Given the description of an element on the screen output the (x, y) to click on. 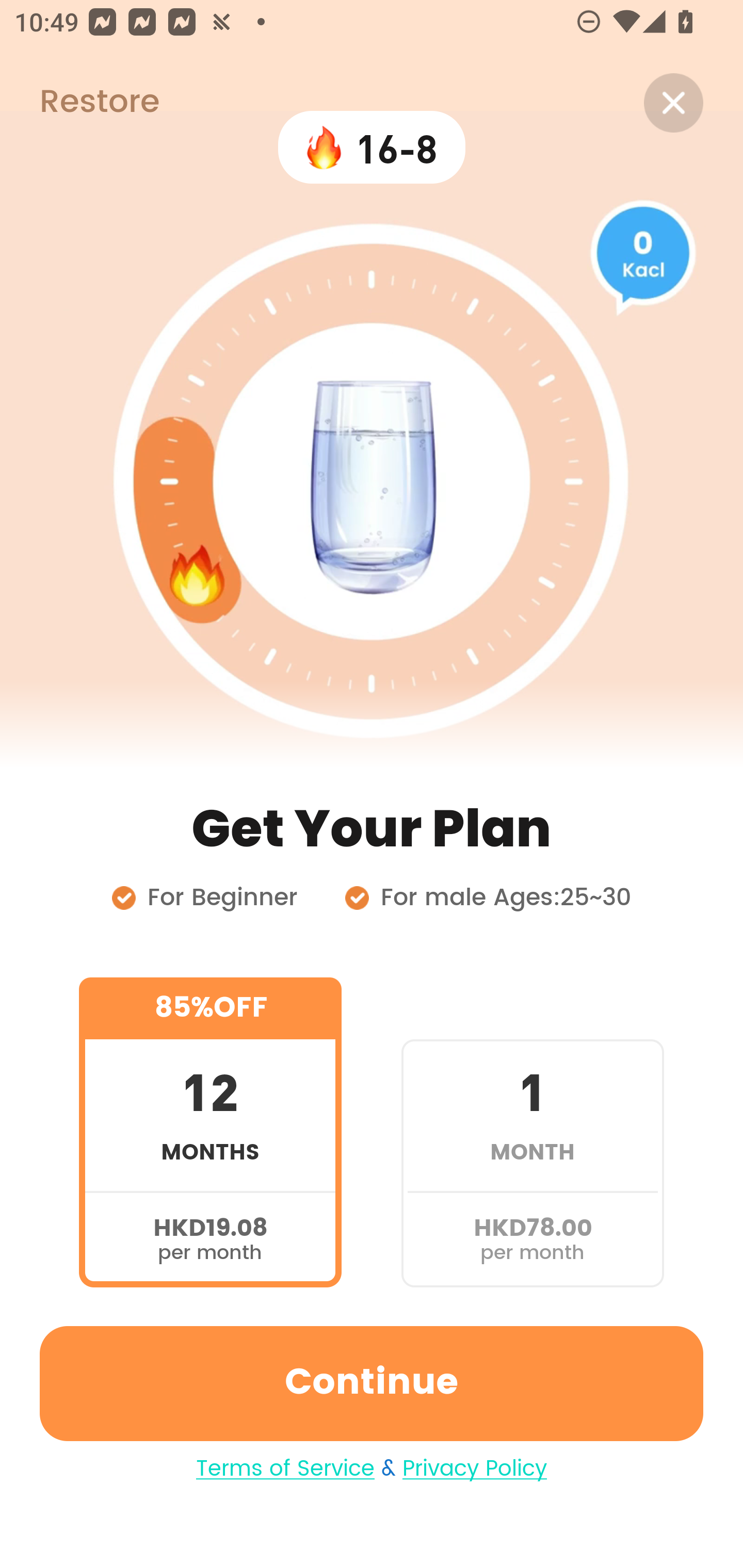
Restore (79, 102)
85%OFF 12 MONTHS per month HKD19.08 (209, 1131)
1 MONTH per month HKD78.00 (532, 1131)
Continue (371, 1383)
